Given the description of an element on the screen output the (x, y) to click on. 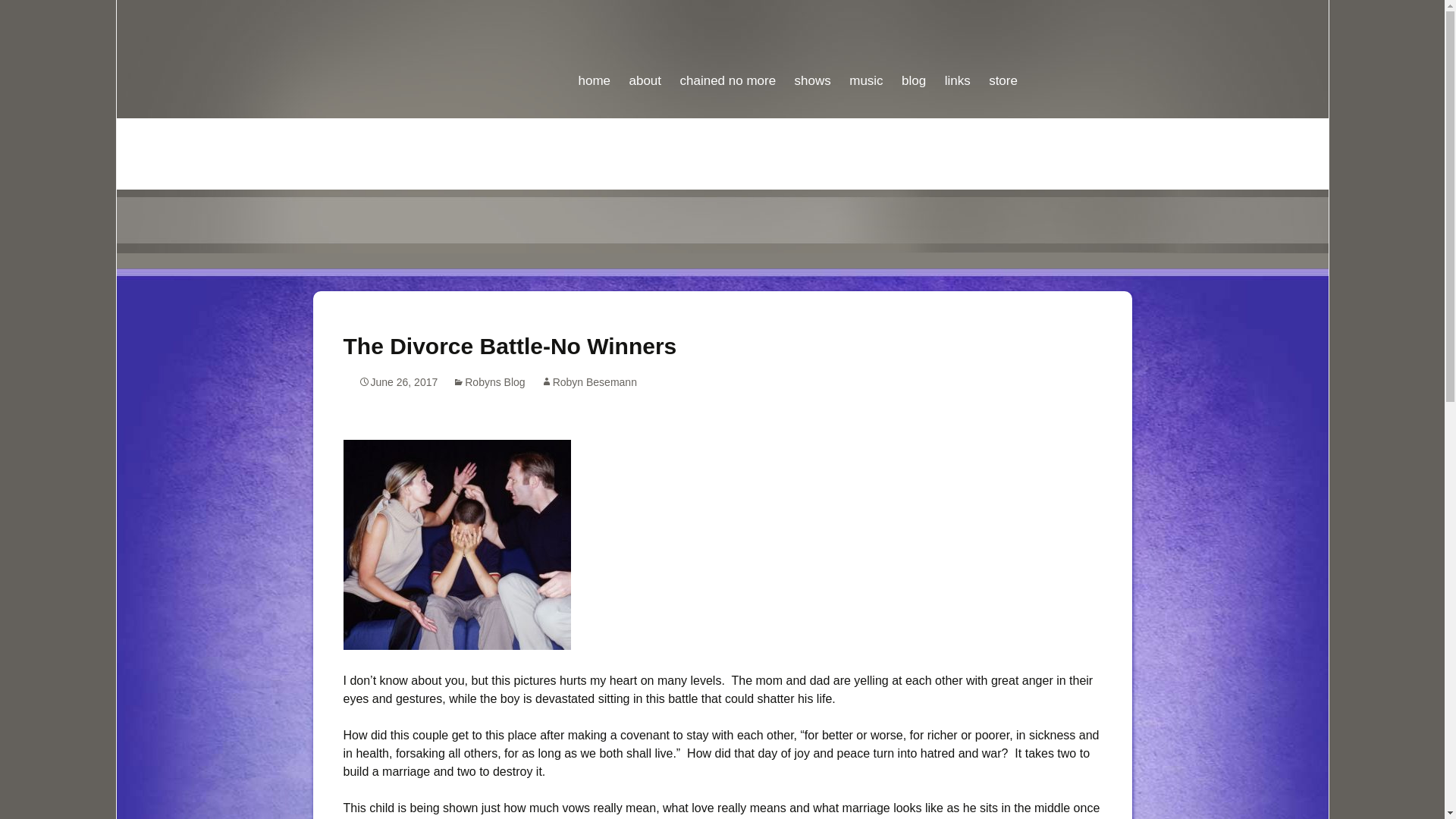
Permalink to The Divorce Battle-No Winners (398, 381)
June 26, 2017 (398, 381)
Robyn Besemann (588, 381)
View all posts by Robyn Besemann (588, 381)
chained no more (727, 47)
Robynbministries (722, 49)
Robyns Blog (488, 381)
